Given the description of an element on the screen output the (x, y) to click on. 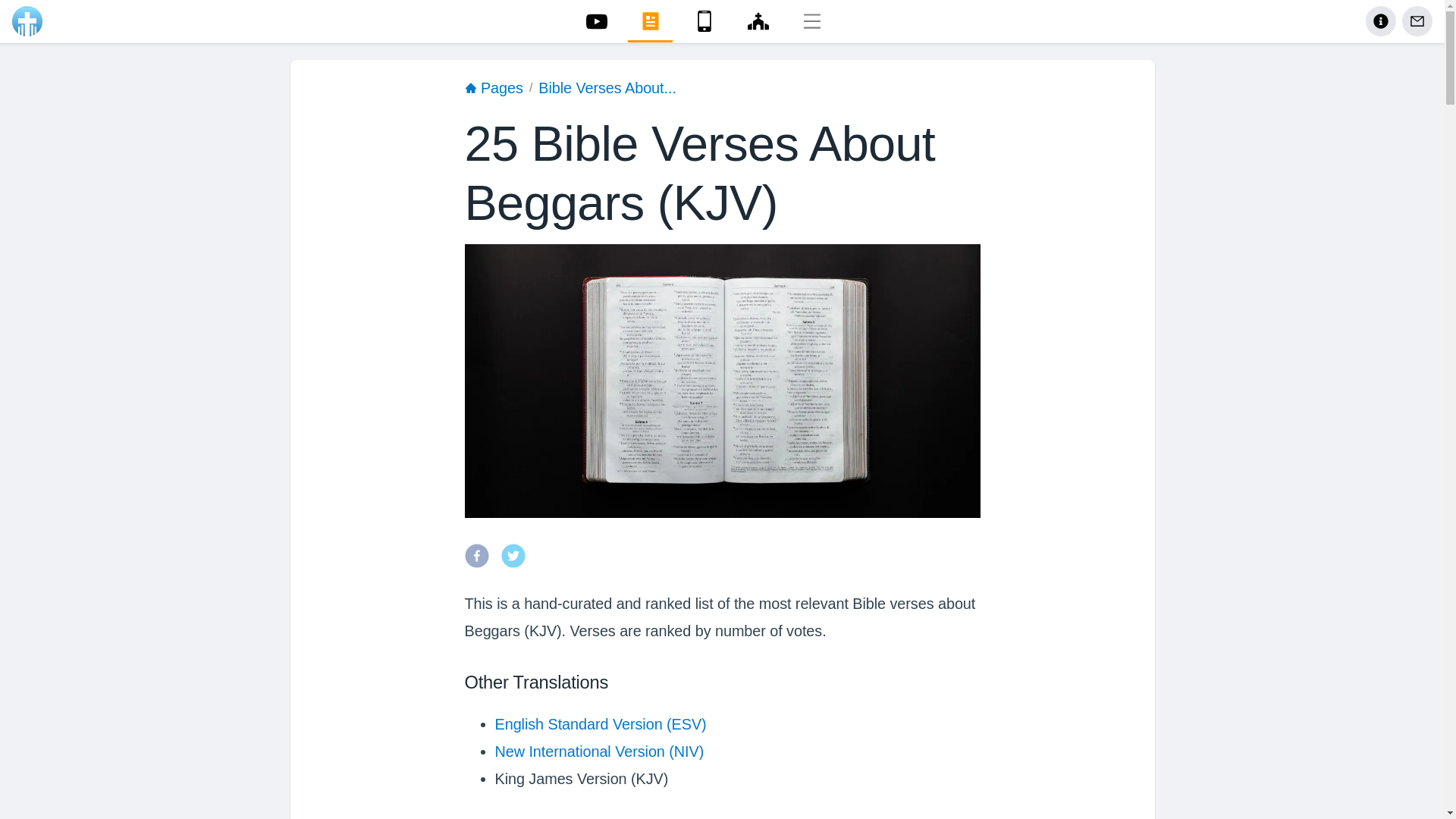
Pages (493, 88)
Bible Verses About... (607, 88)
